Given the description of an element on the screen output the (x, y) to click on. 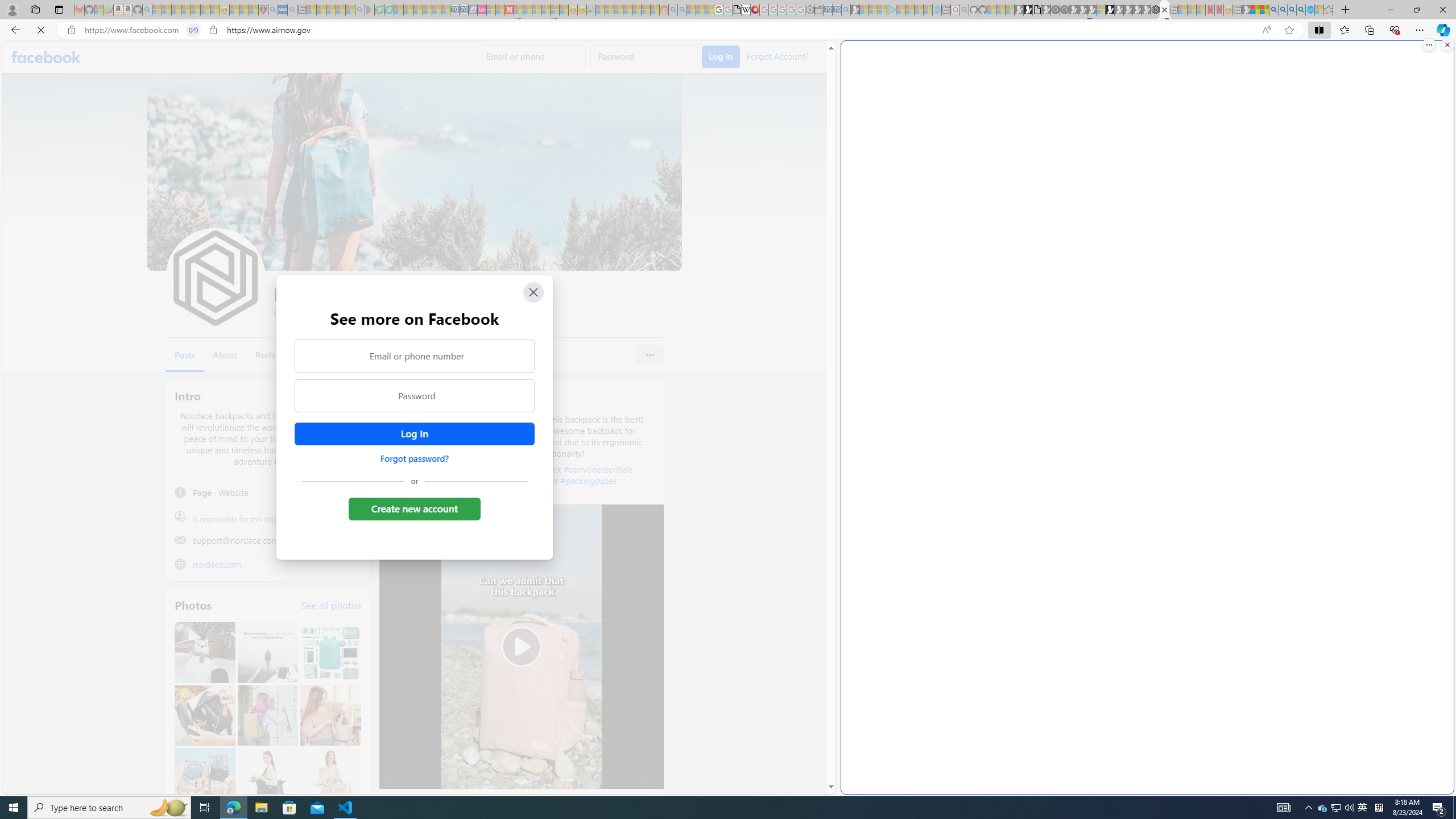
2009 Bing officially replaced Live Search on June 3 - Search (1283, 9)
Favorites - Sleeping (1328, 9)
Close split screen. (1447, 45)
Bing Real Estate - Home sales and rental listings - Sleeping (846, 9)
Settings - Sleeping (809, 9)
